Given the description of an element on the screen output the (x, y) to click on. 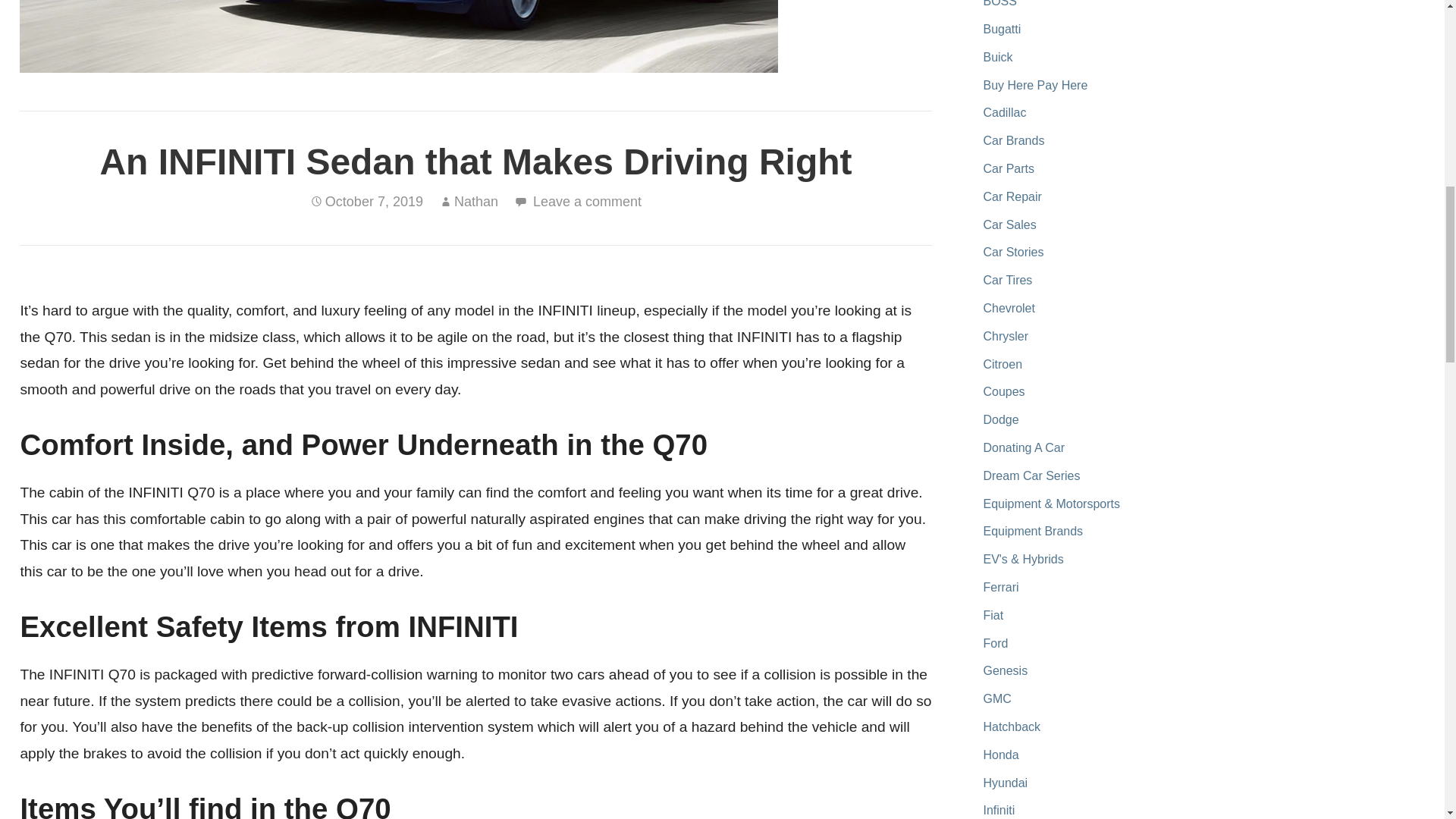
Leave a comment (587, 201)
Nathan (475, 201)
Posts by Nathan (475, 201)
